Given the description of an element on the screen output the (x, y) to click on. 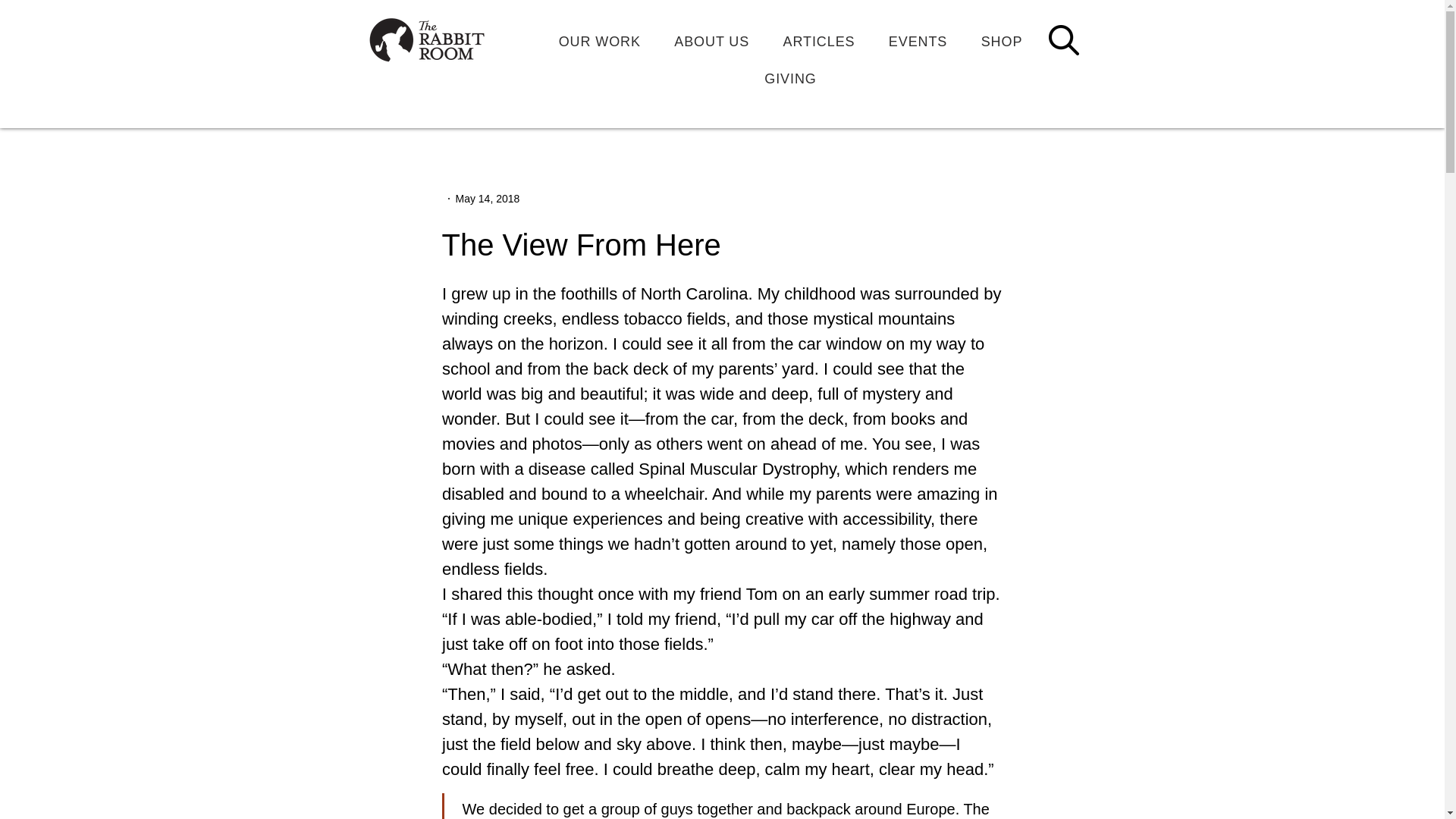
SHOP (1000, 41)
May 14, 2018 (486, 198)
EVENTS (917, 41)
GIVING (789, 79)
ARTICLES (817, 41)
ABOUT US (711, 41)
